Given the description of an element on the screen output the (x, y) to click on. 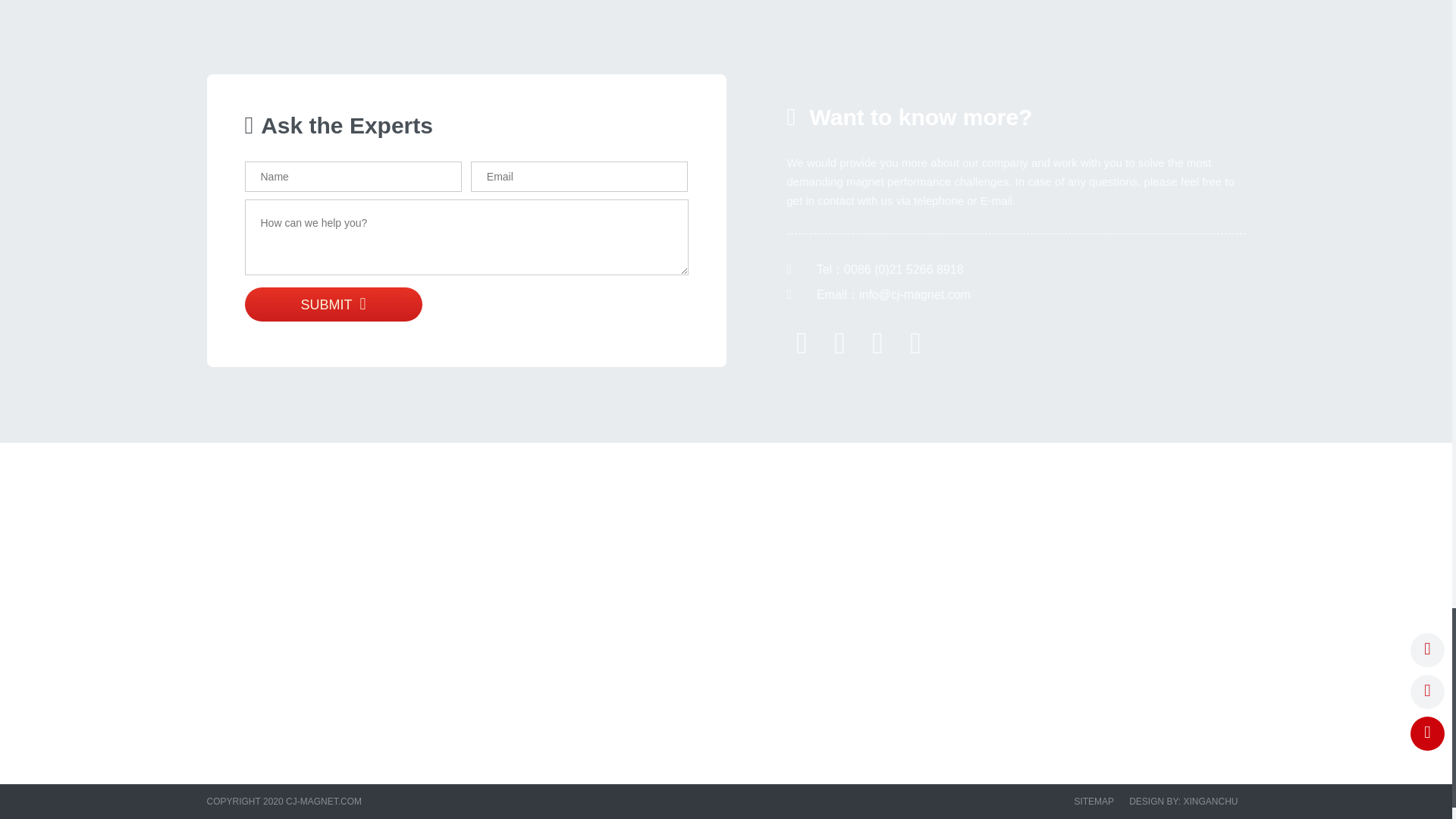
Twitter (840, 345)
Facebook (801, 345)
Linkedin (878, 345)
Email (916, 345)
